Given the description of an element on the screen output the (x, y) to click on. 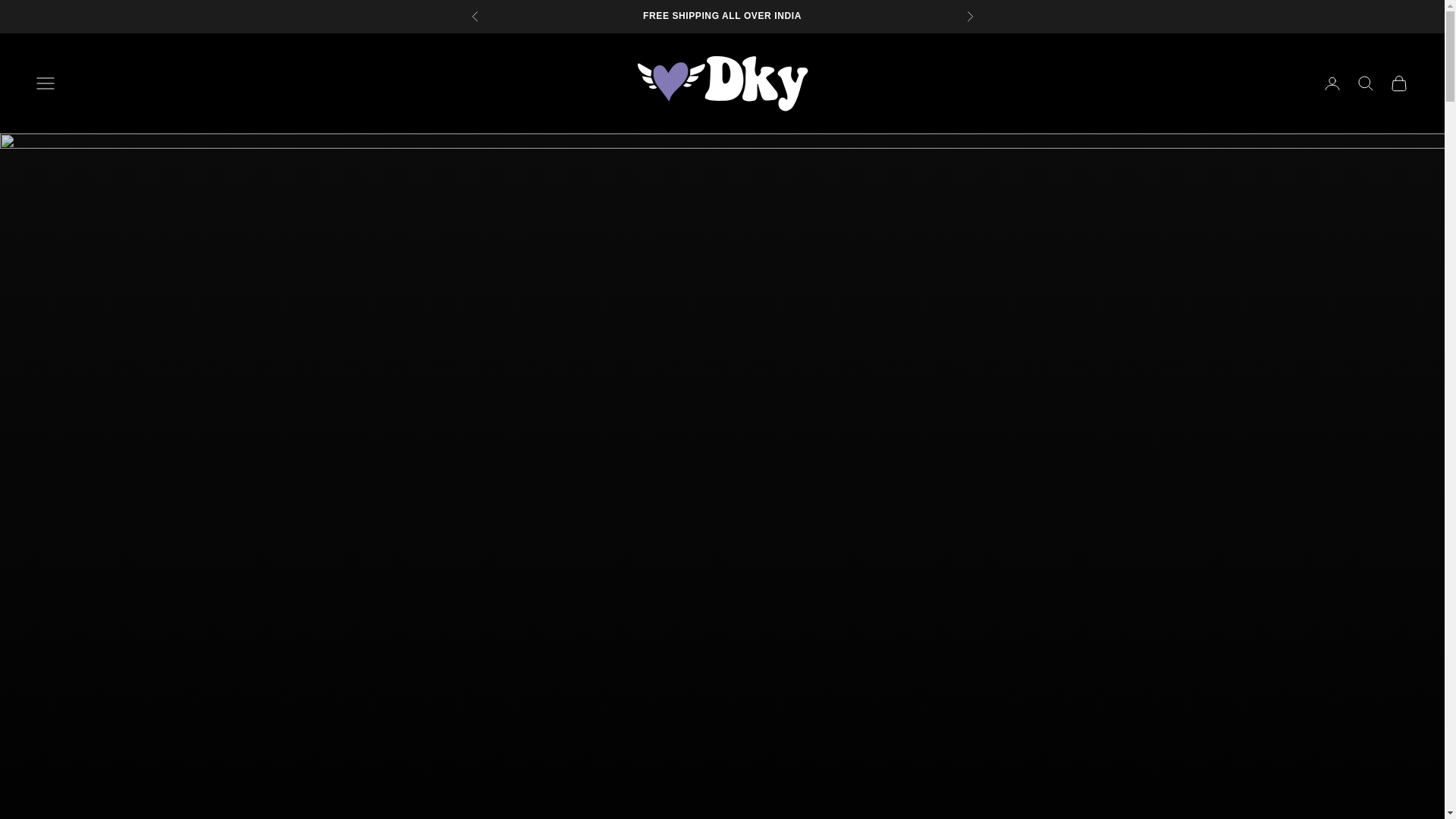
Open navigation menu (45, 83)
Open cart (1398, 83)
Open search (1365, 83)
Open account page (1331, 83)
